Given the description of an element on the screen output the (x, y) to click on. 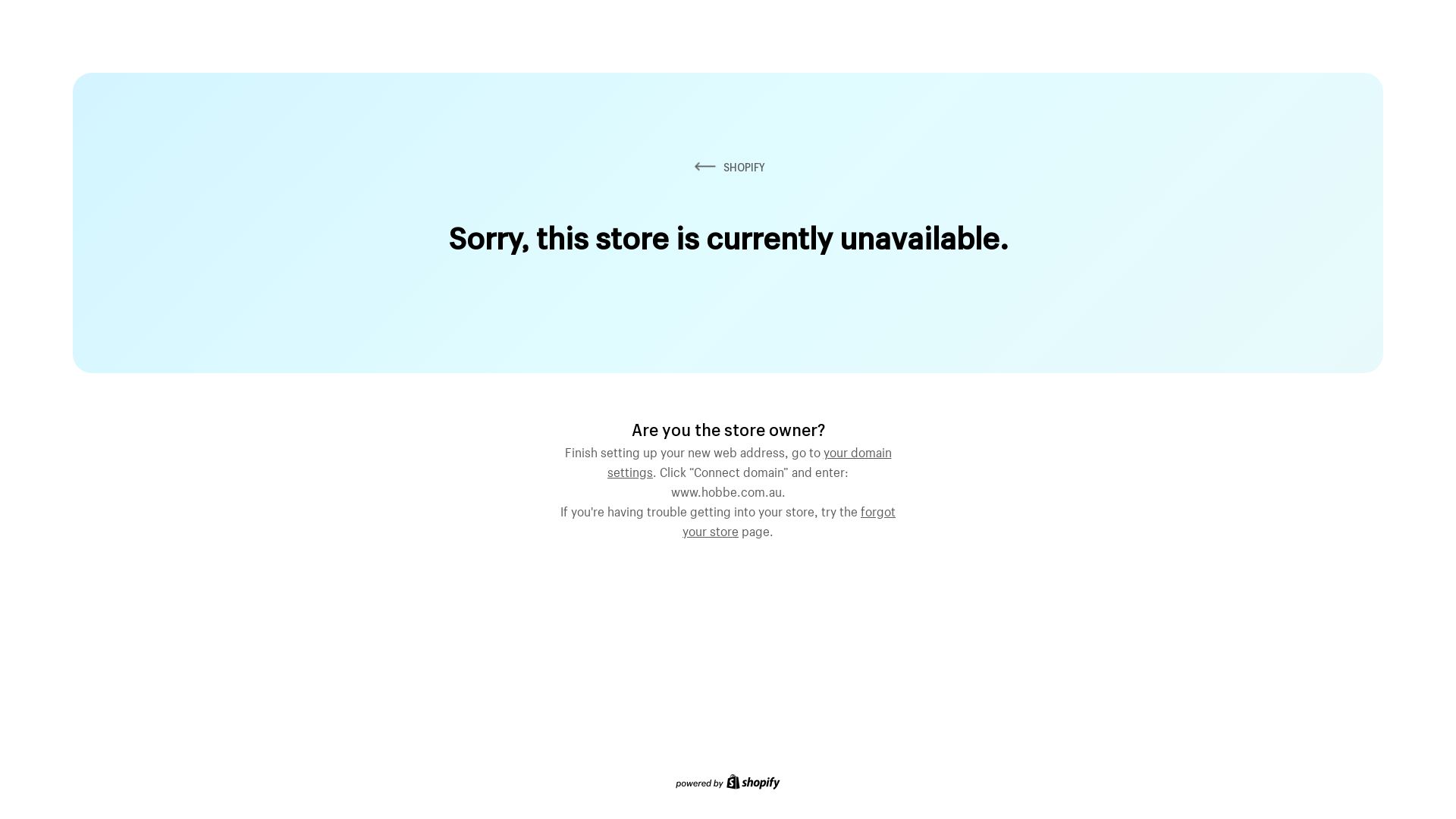
SHOPIFY Element type: text (727, 167)
your domain settings Element type: text (749, 460)
forgot your store Element type: text (788, 519)
